Given the description of an element on the screen output the (x, y) to click on. 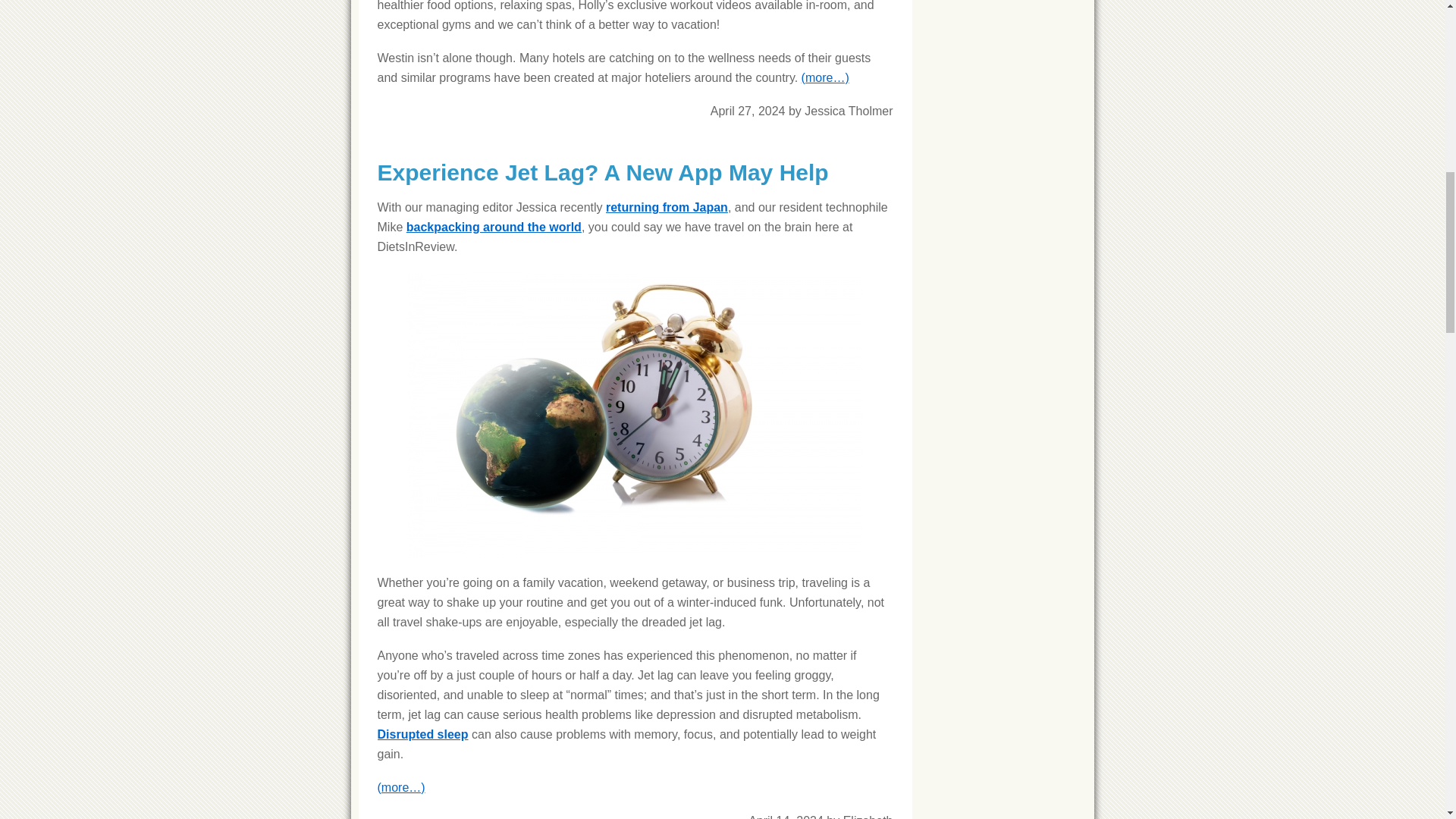
eating well and cheap while traveling (493, 226)
causes of disrupted sleep (422, 734)
health habits from japan (666, 206)
